Given the description of an element on the screen output the (x, y) to click on. 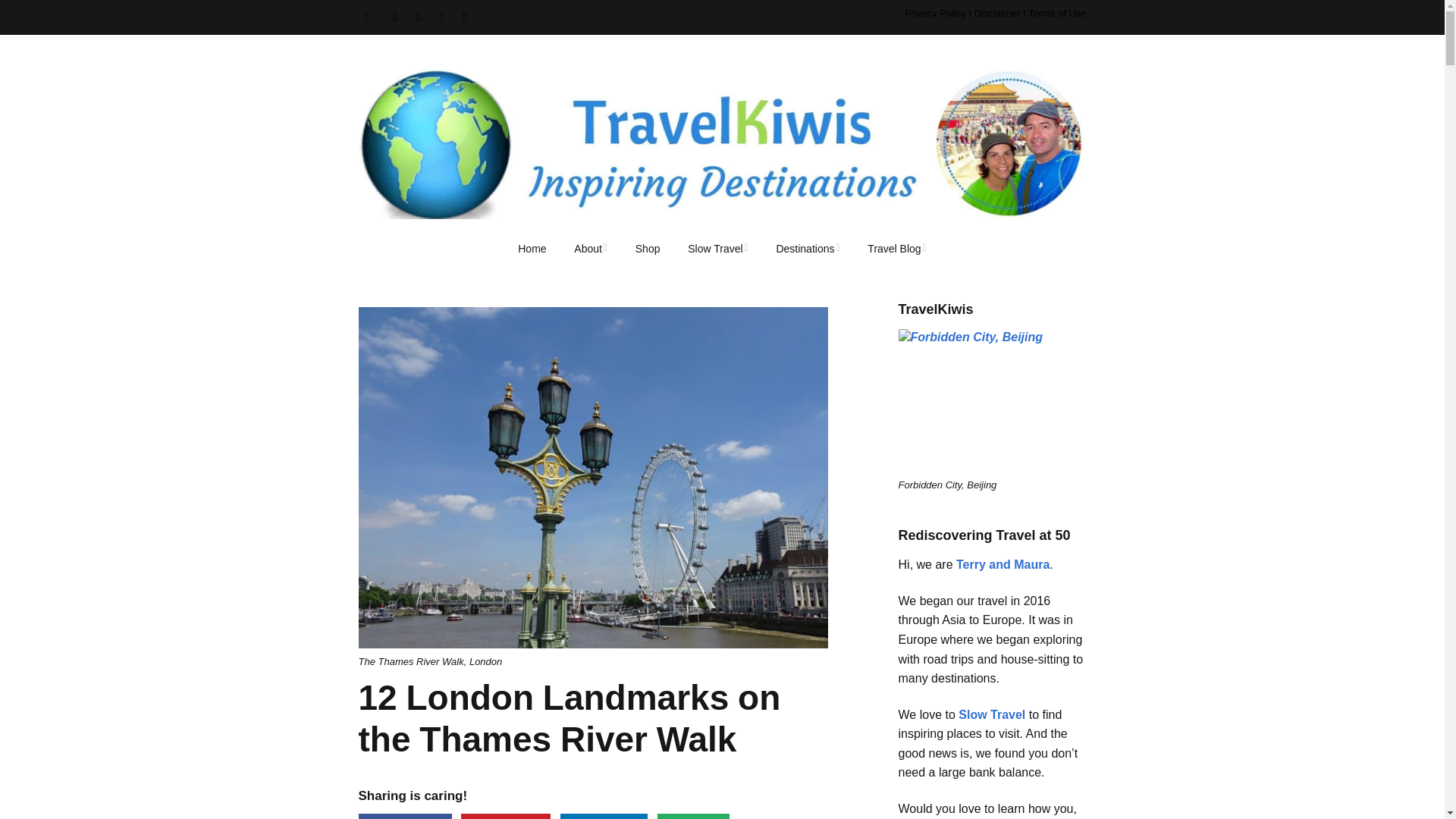
Save to Pinterest (505, 816)
Share on Facebook (404, 816)
Privacy Policy I Disclaimer I Terms of Use (995, 12)
Travel Blog (896, 249)
Email (693, 816)
Shop (647, 249)
Pinterest (505, 816)
Home (531, 249)
Slow Travel (717, 249)
About (591, 249)
LinkedIn (603, 816)
Send over email (693, 816)
Destinations (806, 249)
Share on LinkedIn (603, 816)
Facebook (404, 816)
